Given the description of an element on the screen output the (x, y) to click on. 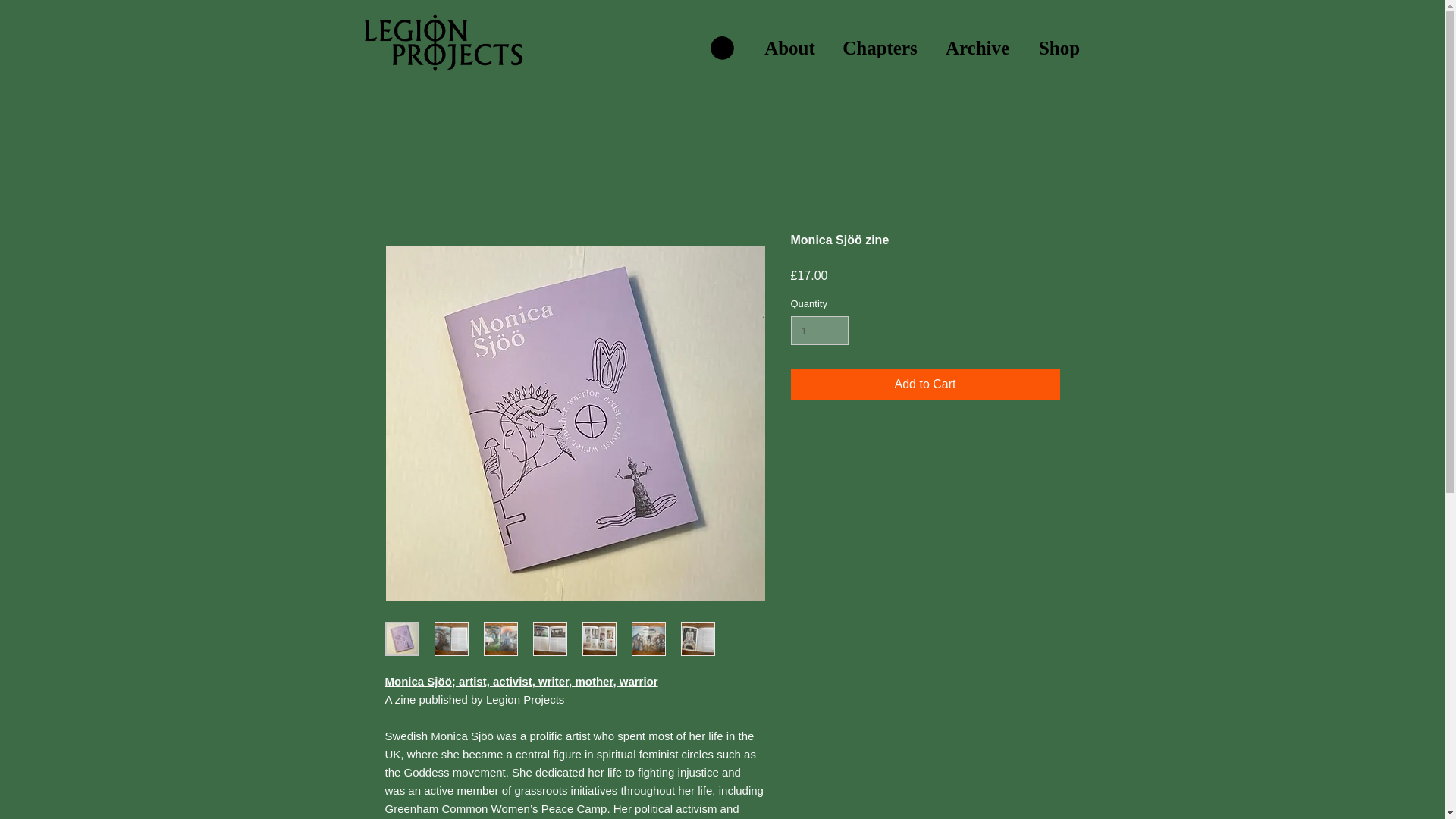
Archive (977, 48)
1 (818, 330)
Chapters (879, 48)
About (789, 48)
Add to Cart (924, 384)
Shop (1059, 48)
